Given the description of an element on the screen output the (x, y) to click on. 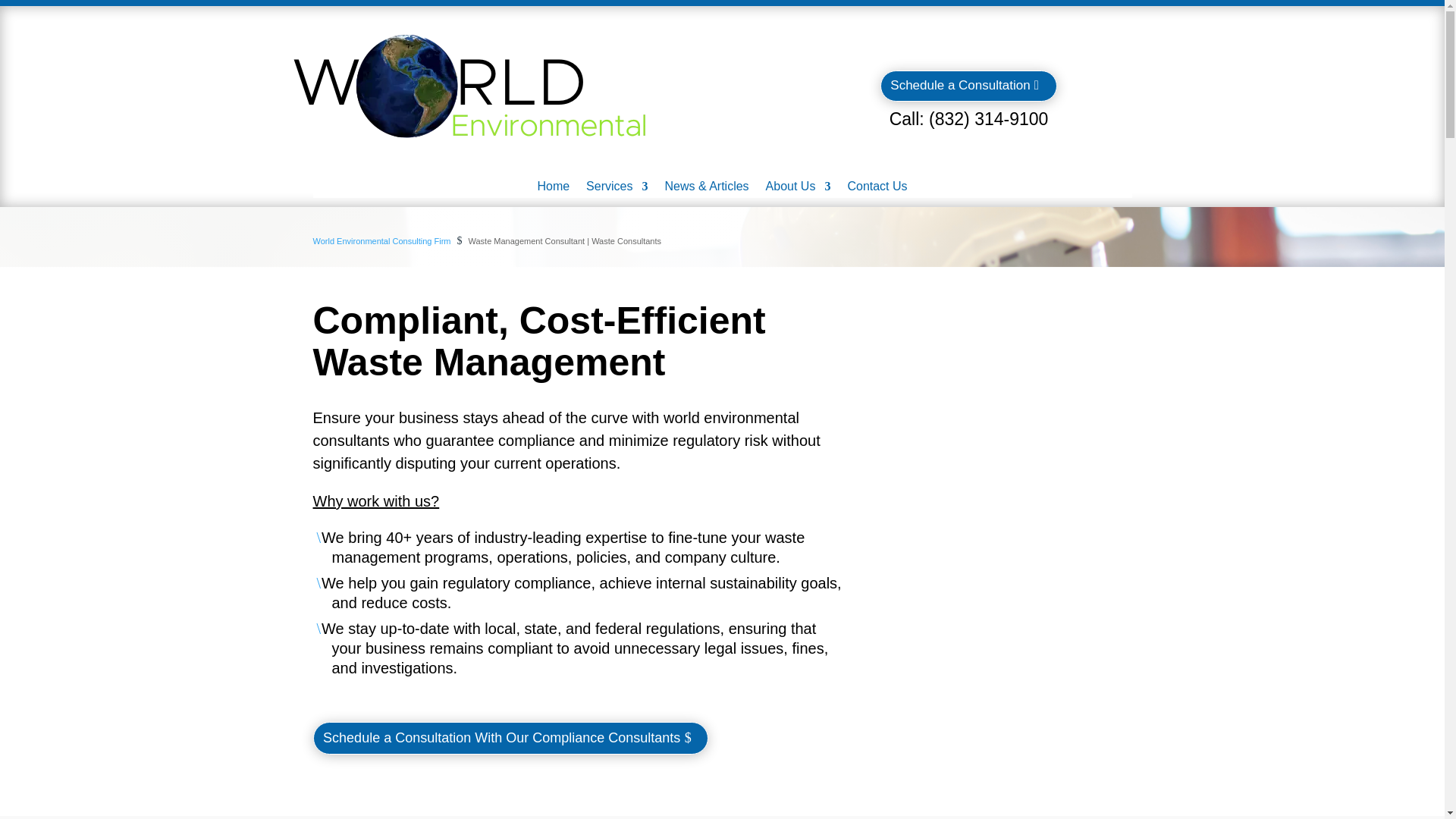
Home (553, 189)
Contact Us (877, 189)
About Us (798, 189)
Schedule a Consultation (968, 85)
Services (616, 189)
